Given the description of an element on the screen output the (x, y) to click on. 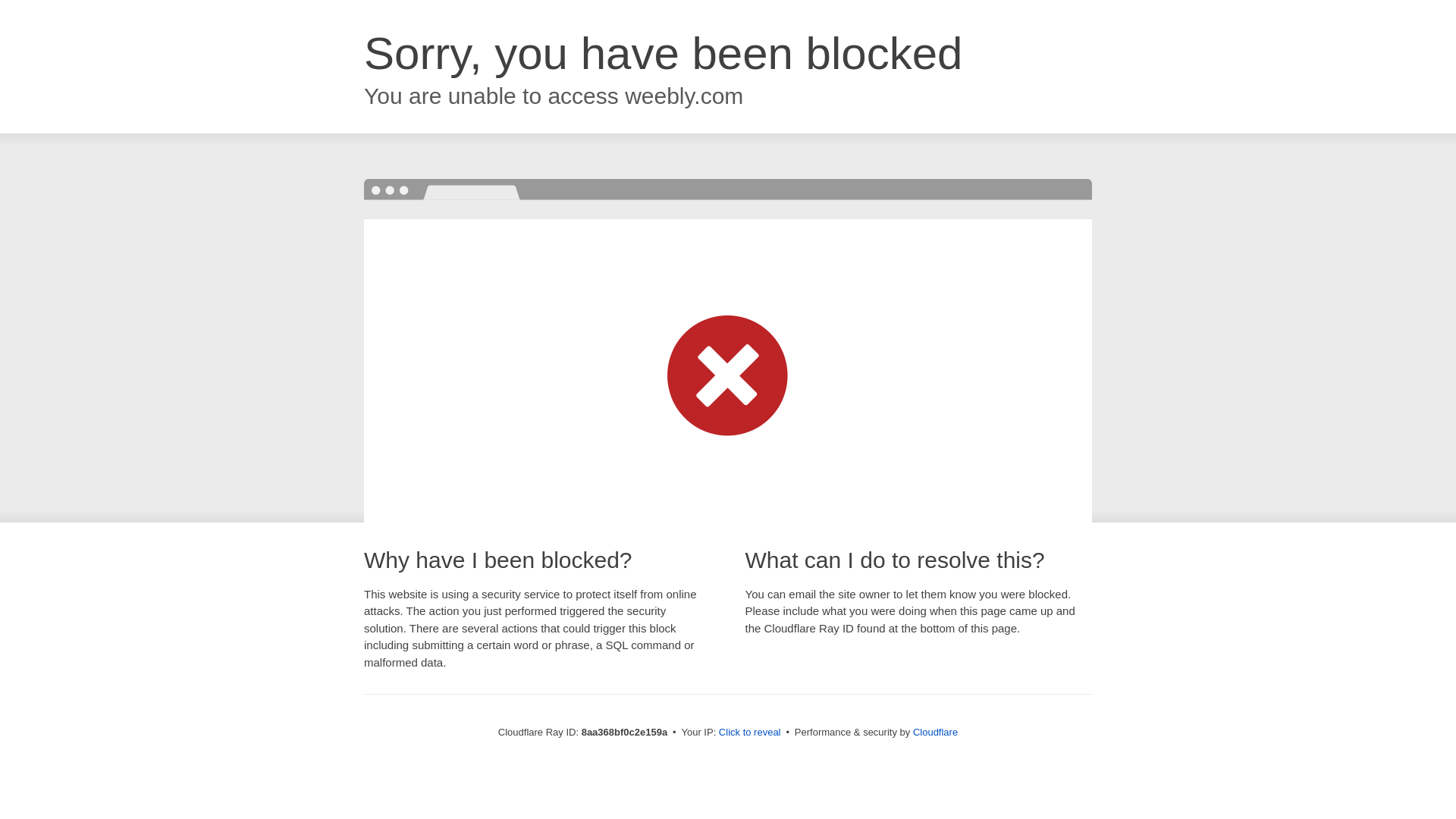
Click to reveal (749, 732)
Cloudflare (935, 731)
